Given the description of an element on the screen output the (x, y) to click on. 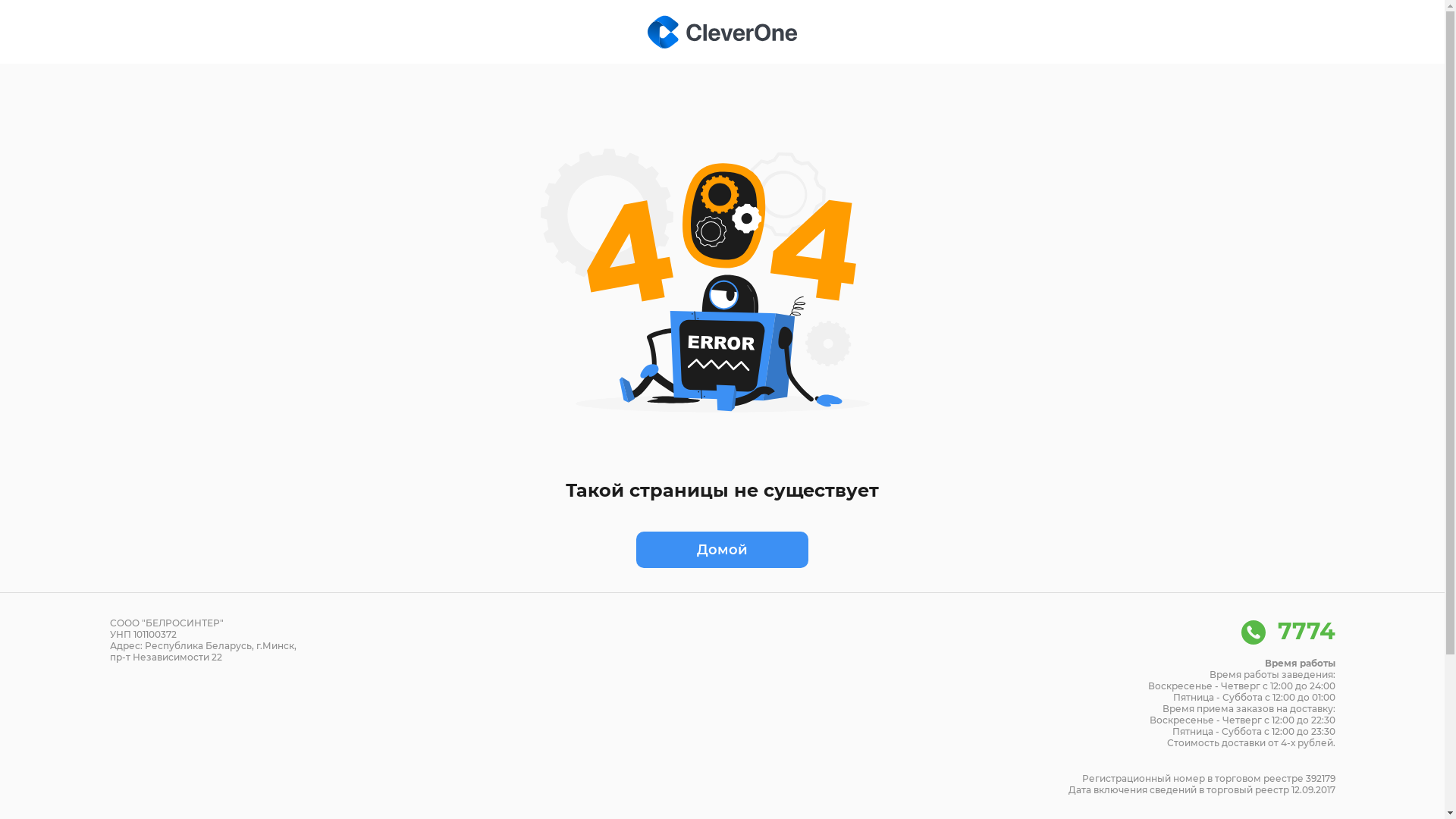
7774 Element type: text (1287, 631)
